Given the description of an element on the screen output the (x, y) to click on. 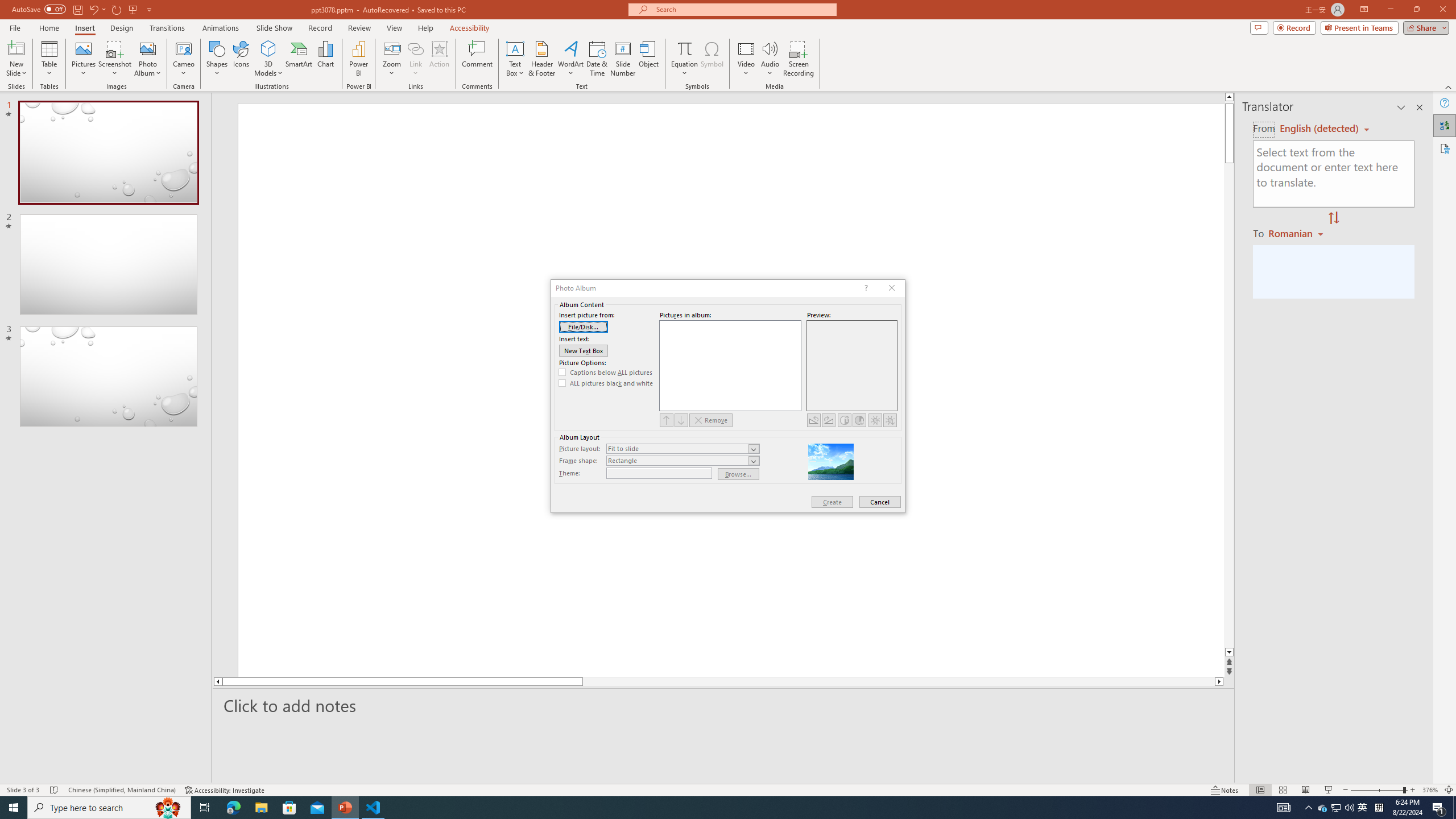
File/Disk... (583, 326)
New Text Box (583, 350)
Next Item (681, 419)
